Given the description of an element on the screen output the (x, y) to click on. 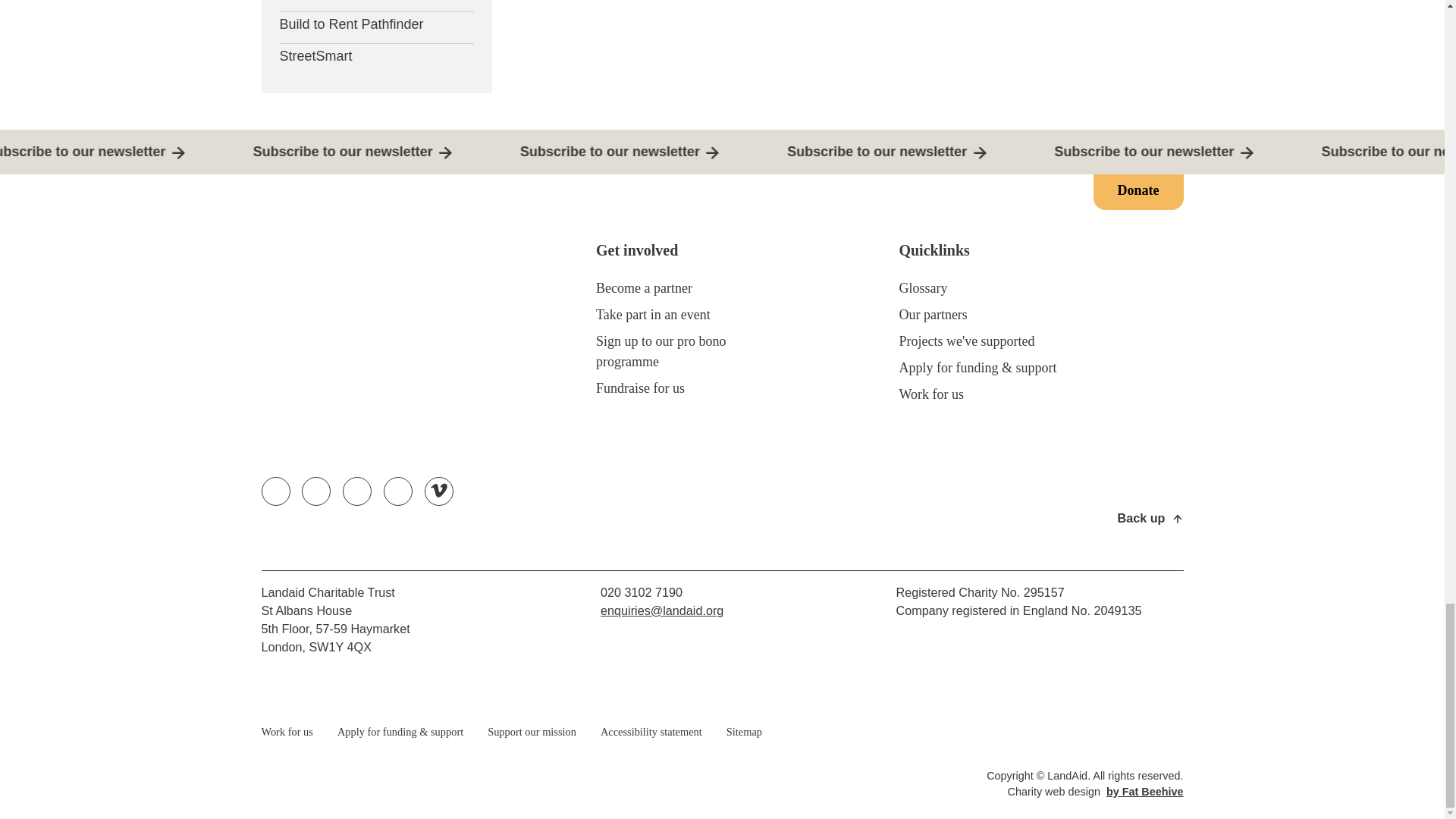
Facebook (315, 491)
Linkedin (397, 491)
Twitter (275, 491)
Vimeo (438, 491)
Instagram (356, 491)
